Given the description of an element on the screen output the (x, y) to click on. 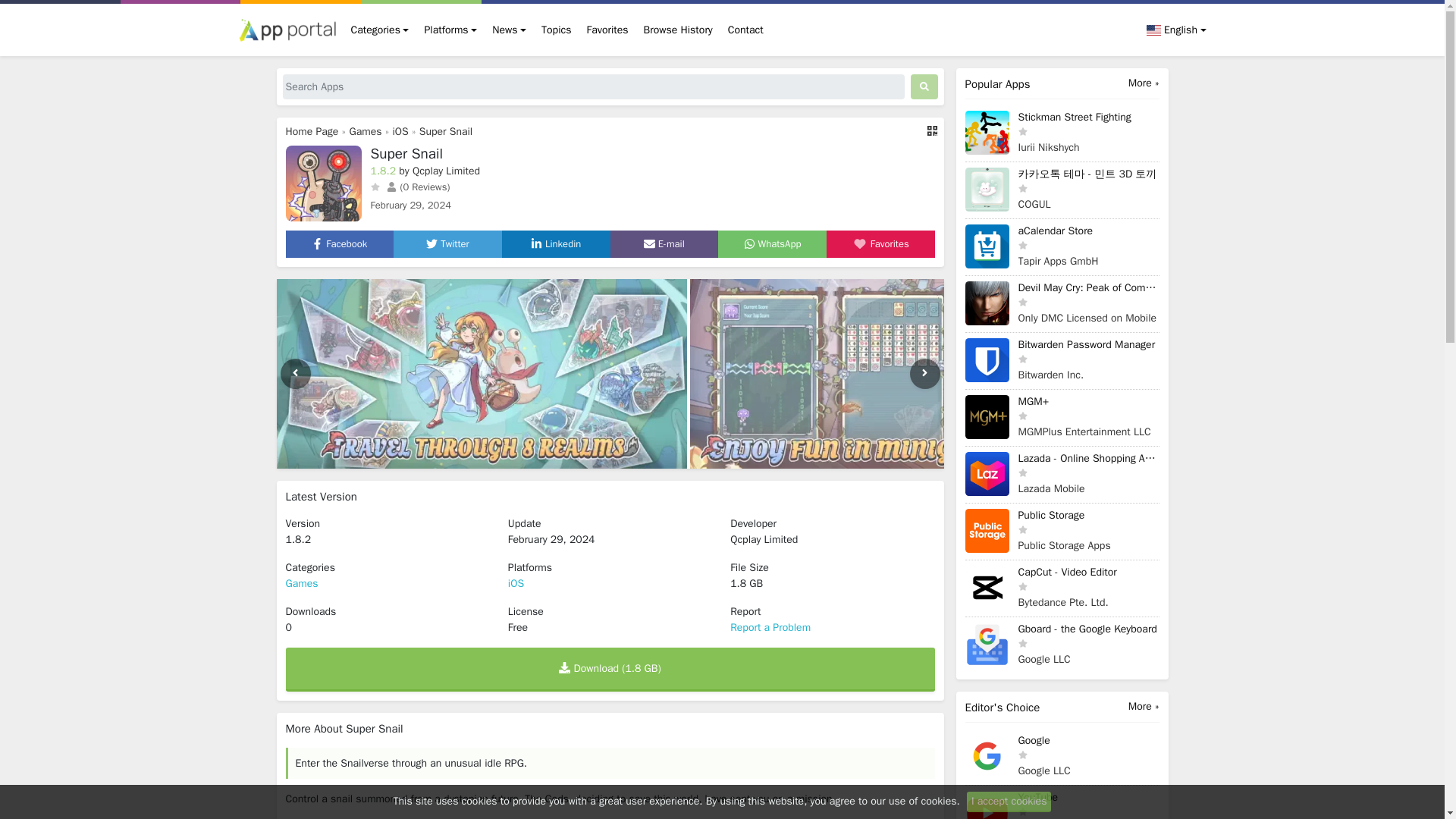
English (1172, 29)
Platforms (450, 29)
Topics (555, 29)
Games (365, 131)
Categories (378, 29)
Contact (746, 29)
News (509, 29)
iOS (401, 131)
Facebook (338, 243)
Home Page (311, 131)
Browse History (678, 29)
Favorites (607, 29)
Super Snail (445, 131)
